Given the description of an element on the screen output the (x, y) to click on. 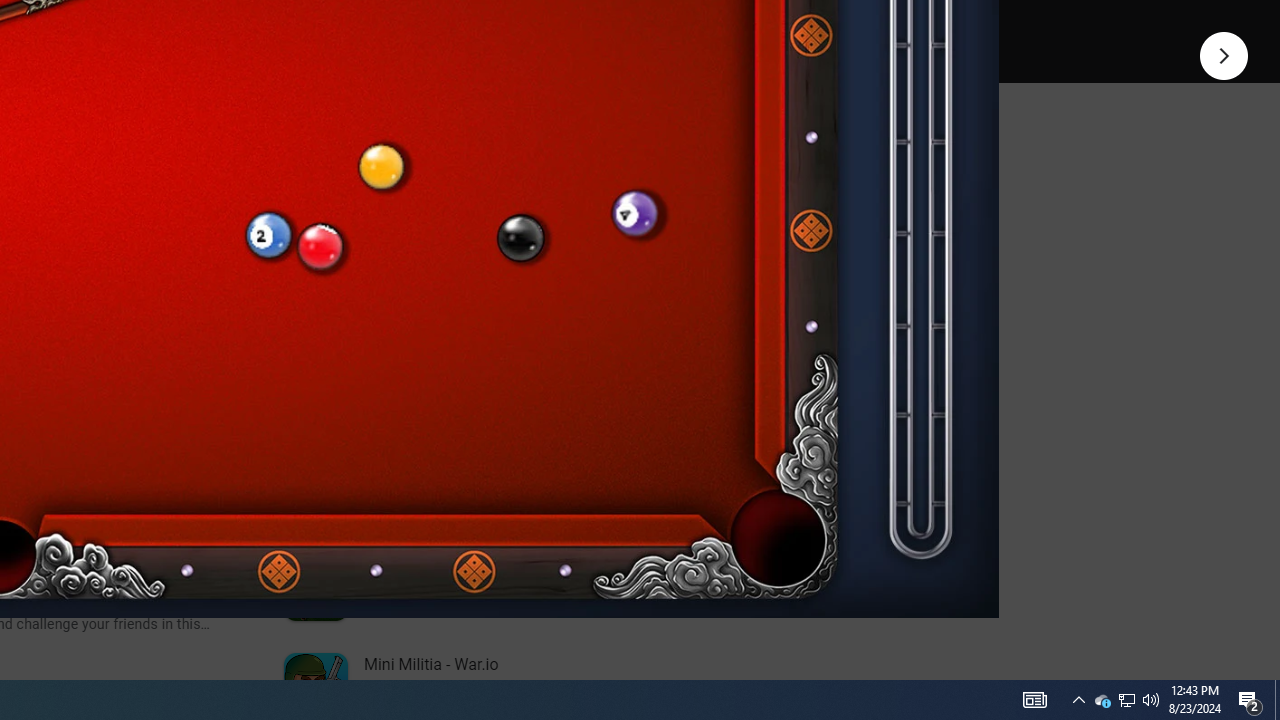
Scroll Next (212, 272)
Next (1224, 54)
Play trailer (587, 24)
Expand (441, 155)
See more information on More by Miniclip.com (530, 229)
